Given the description of an element on the screen output the (x, y) to click on. 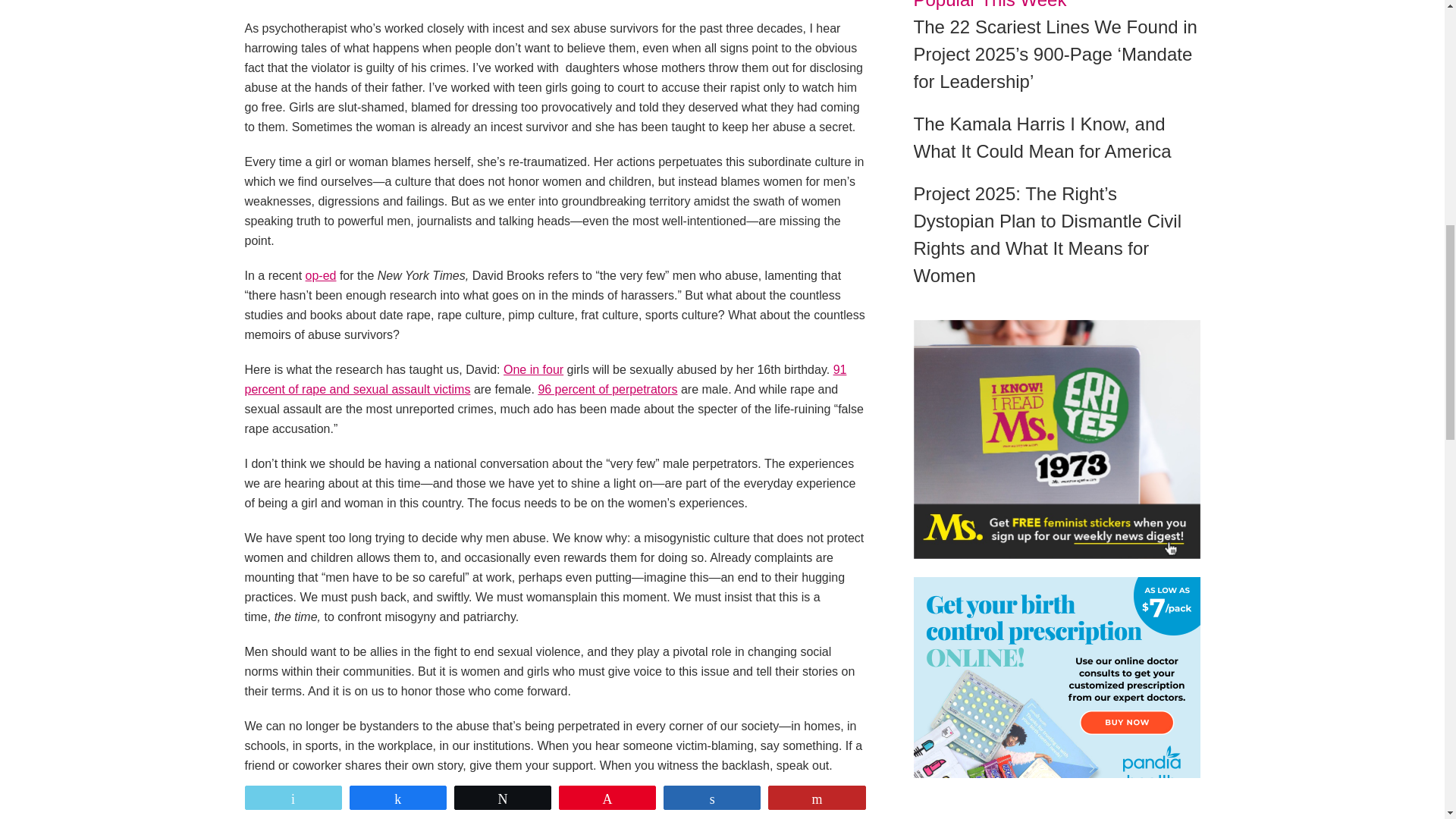
op-ed (320, 275)
96 percent of perpetrators (607, 389)
91 percent of rape and sexual assault victims (544, 379)
One in four (533, 369)
